Given the description of an element on the screen output the (x, y) to click on. 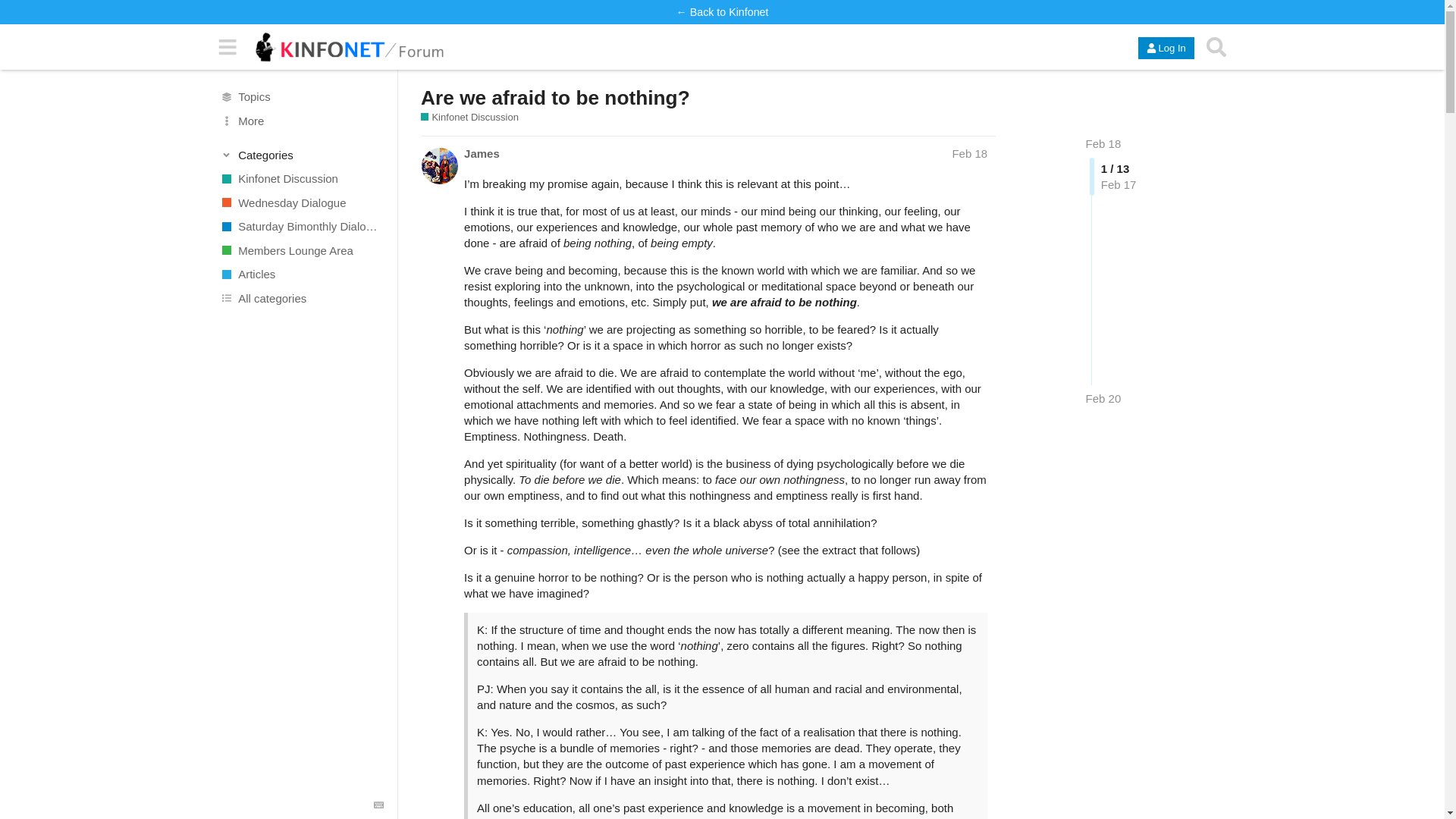
All topics (301, 96)
Are we afraid to be nothing? (555, 97)
Members Lounge Area (301, 250)
Search (1215, 47)
Comments on articles found on the Kinfonet website. (301, 274)
Categories (301, 154)
Wednesday Dialogue (301, 202)
All categories (301, 297)
Feb 20, 2024 1:29 am (1103, 398)
